Given the description of an element on the screen output the (x, y) to click on. 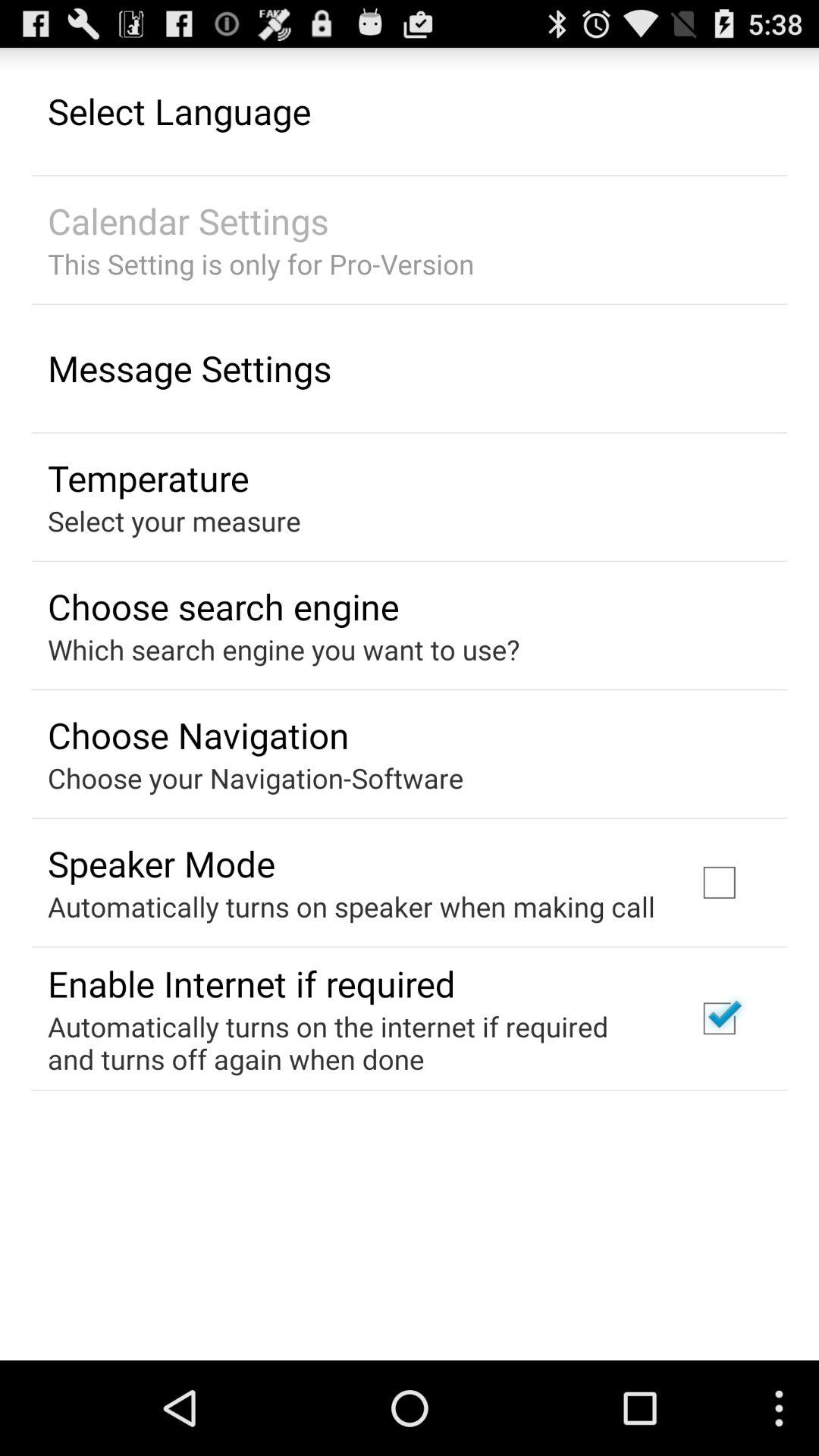
open the item above the this setting is icon (187, 220)
